Given the description of an element on the screen output the (x, y) to click on. 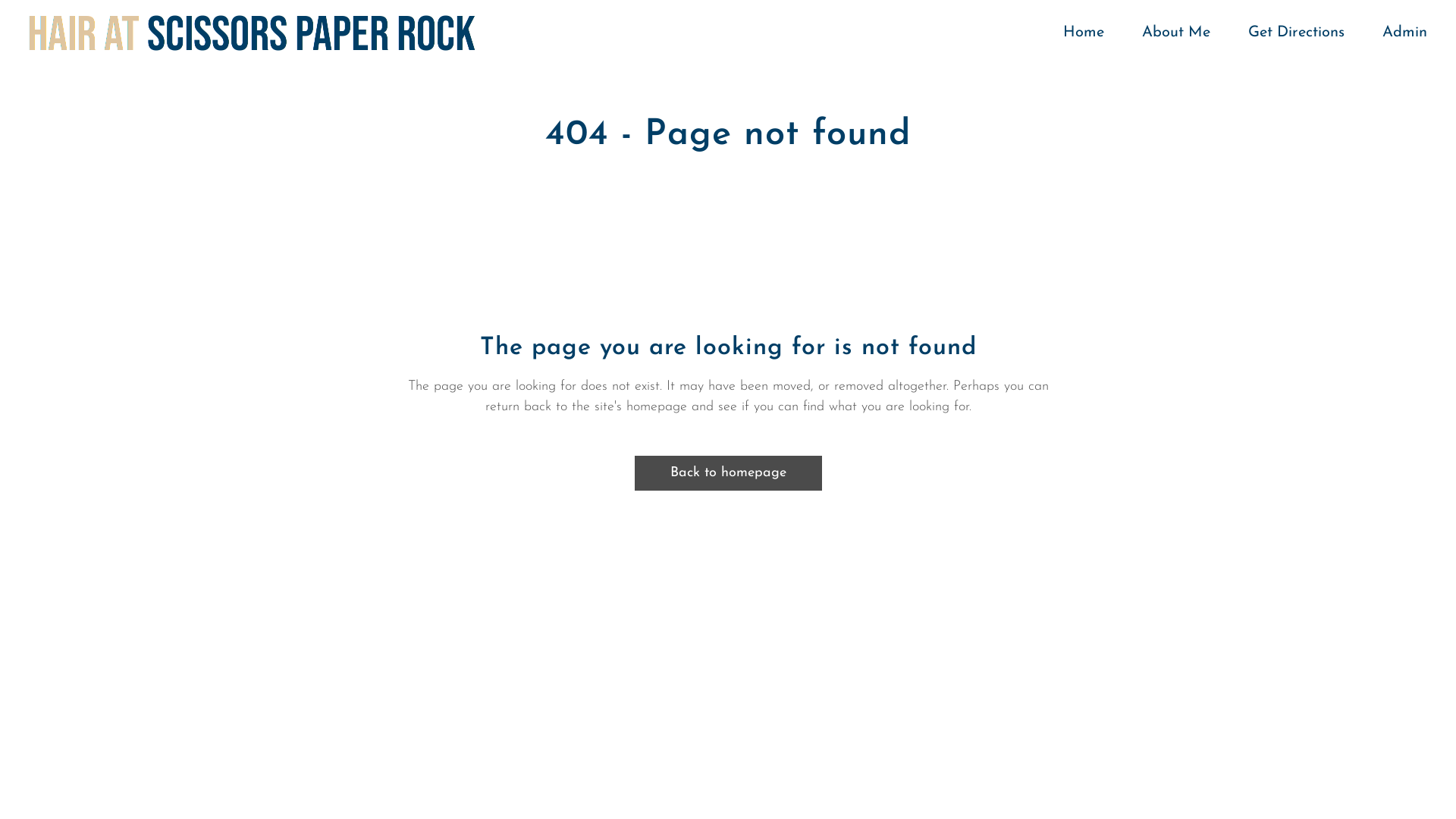
About Me Element type: text (1176, 32)
Get Directions Element type: text (1296, 32)
Back to homepage Element type: text (727, 472)
Home Element type: text (1083, 32)
Admin Element type: text (1395, 32)
